Given the description of an element on the screen output the (x, y) to click on. 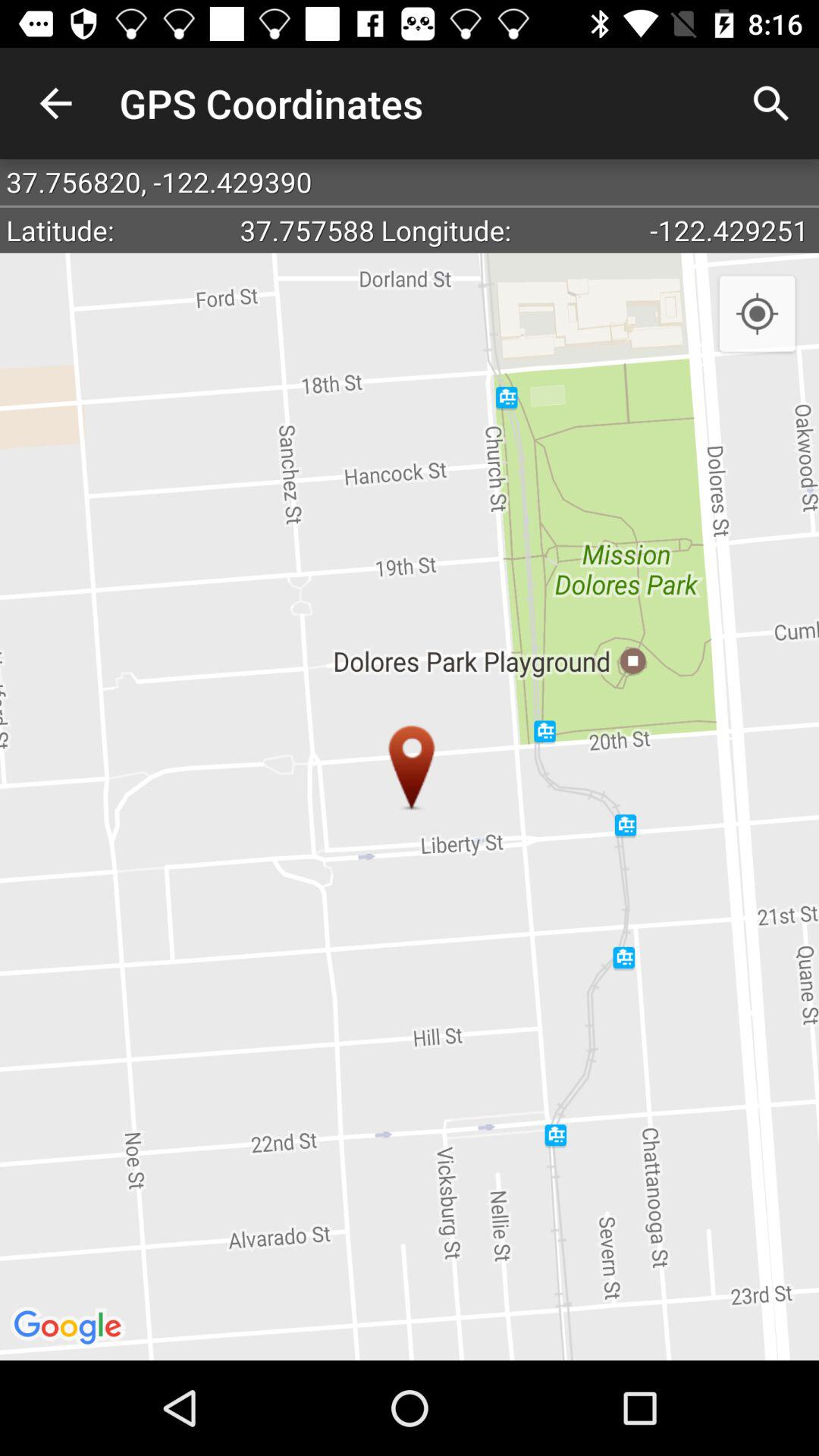
launch the item below latitude: (409, 806)
